Given the description of an element on the screen output the (x, y) to click on. 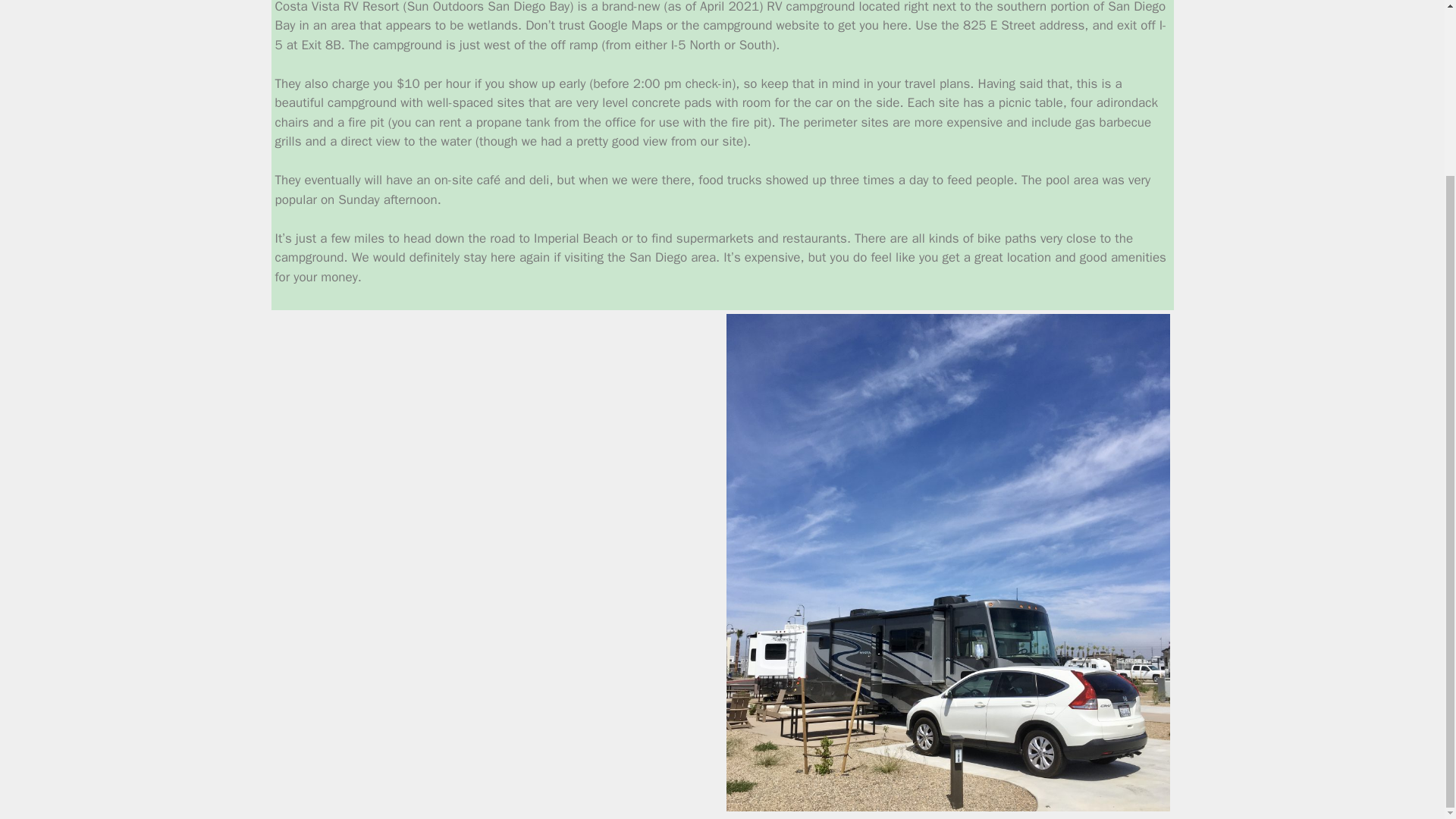
sun outdoors san diego bay (496, 444)
